Given the description of an element on the screen output the (x, y) to click on. 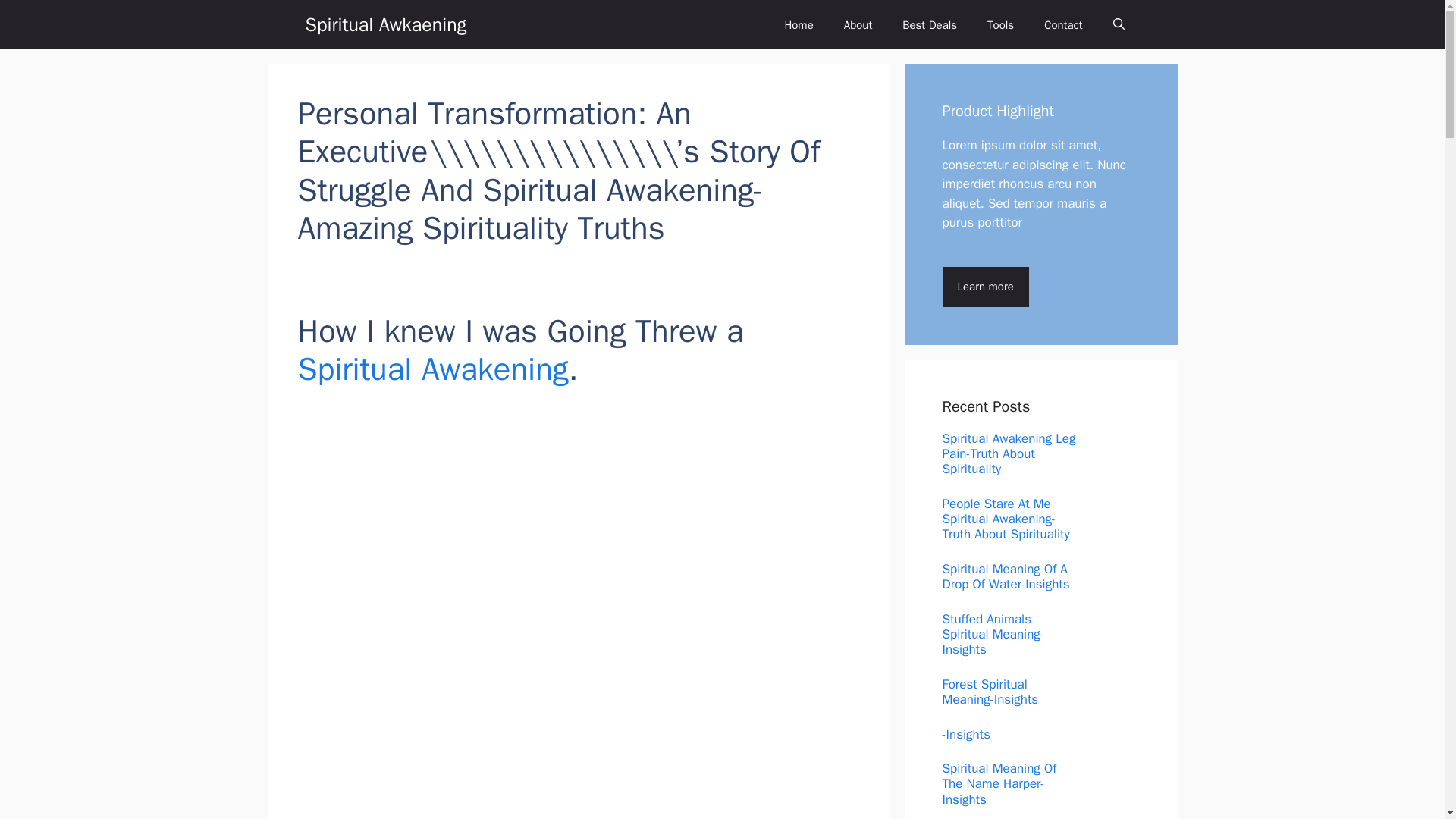
-Insights (966, 734)
Spiritual Awakening (432, 369)
Home (798, 23)
Forest Spiritual Meaning-Insights (990, 691)
Learn more (984, 286)
Spiritual Awakening Leg Pain-Truth About Spirituality (1008, 453)
Spiritual Awkaening (384, 24)
Stuffed Animals Spiritual Meaning-Insights (992, 634)
Best Deals (929, 23)
Contact (1063, 23)
Spiritual Meaning Of The Name Harper-Insights (999, 783)
About (857, 23)
Tools (1000, 23)
Spiritual Meaning Of A Drop Of Water-Insights (1005, 576)
